Given the description of an element on the screen output the (x, y) to click on. 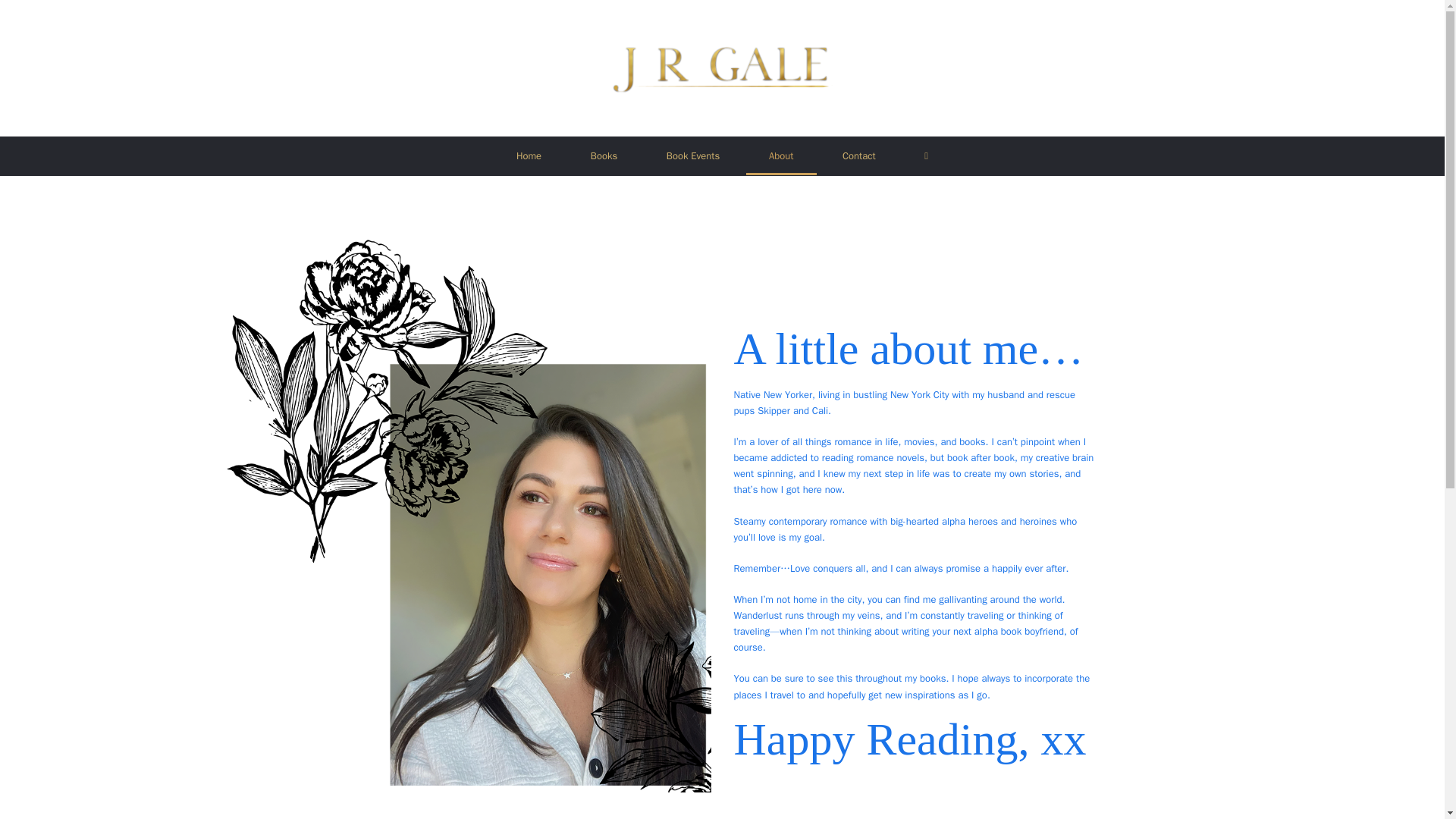
Contact (858, 156)
Home (528, 156)
Books (603, 156)
Book Events (692, 156)
About (780, 156)
